Given the description of an element on the screen output the (x, y) to click on. 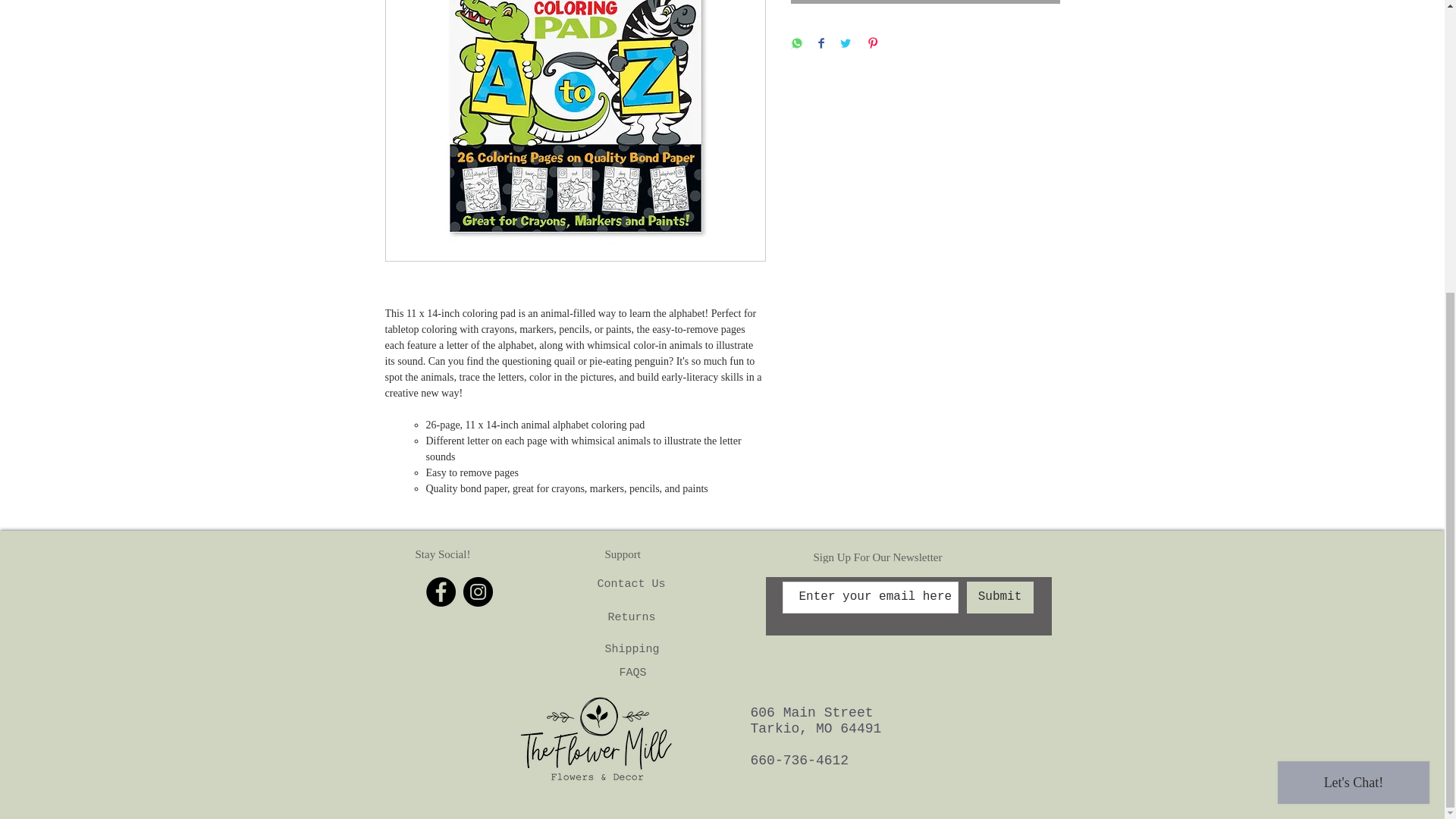
Contact Us (630, 582)
Out of Stock (924, 2)
Submit (999, 597)
